Given the description of an element on the screen output the (x, y) to click on. 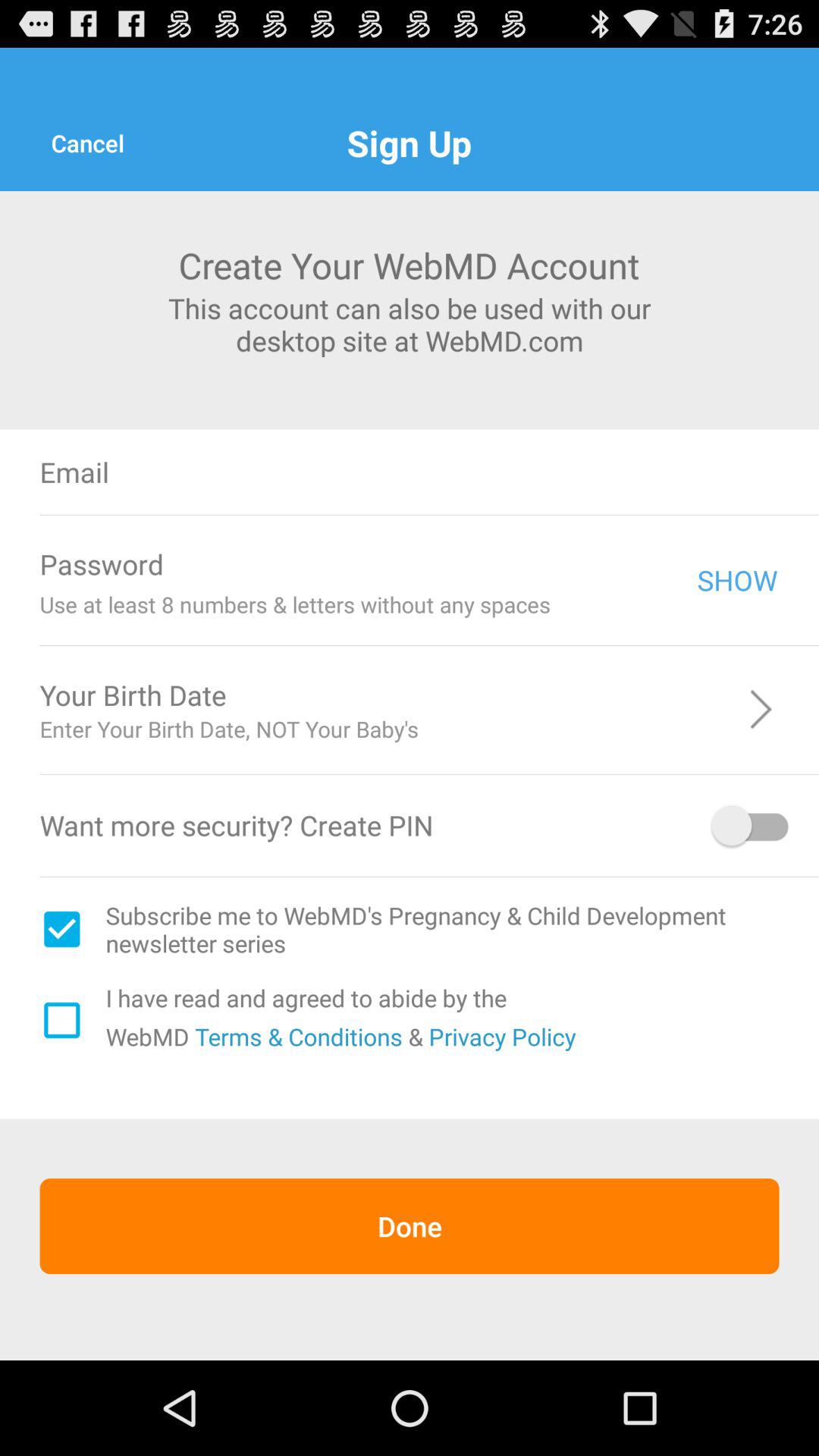
enter your password of at least 8 characters (439, 564)
